Given the description of an element on the screen output the (x, y) to click on. 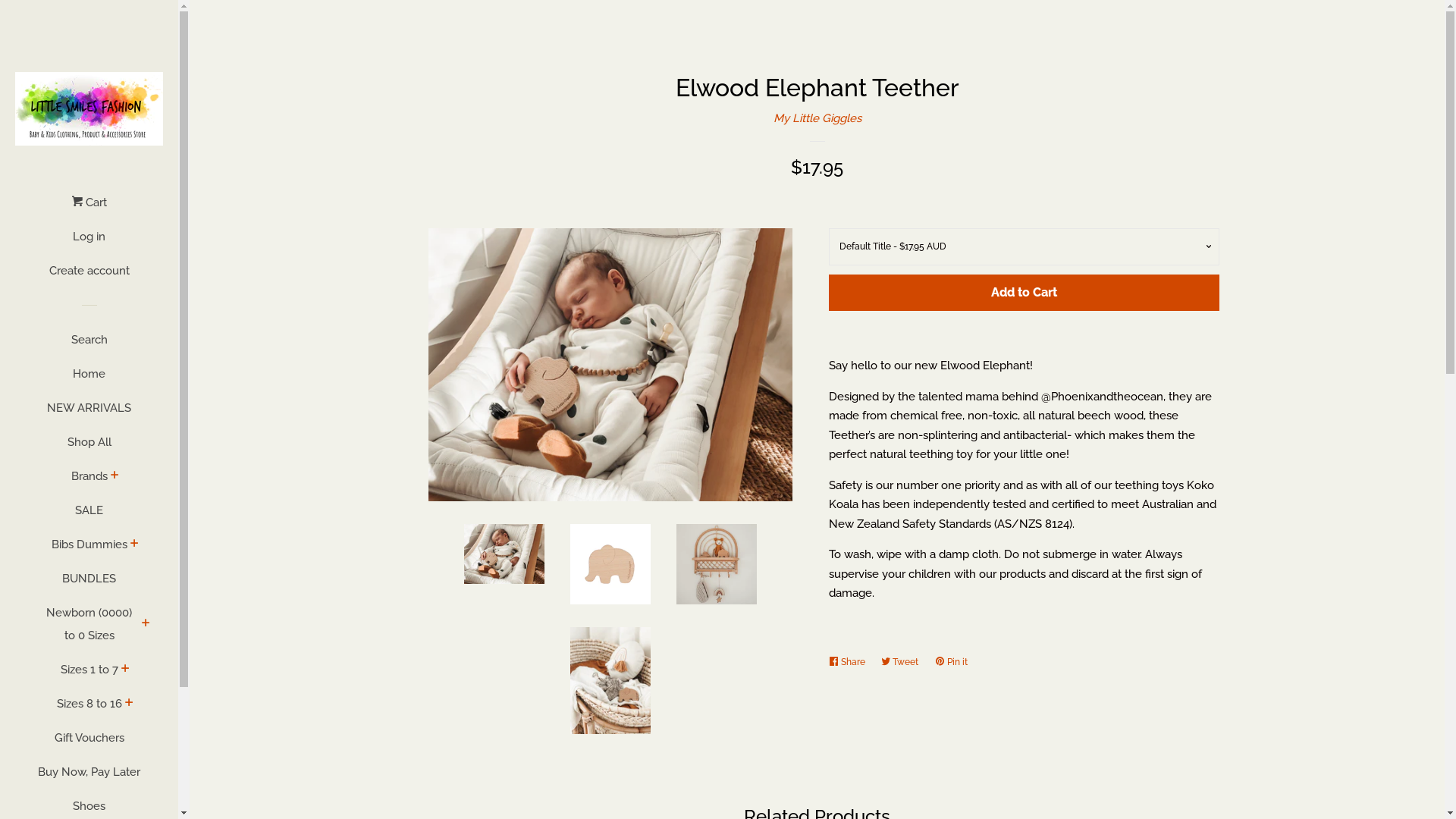
Shop All Element type: text (89, 447)
Gift Vouchers Element type: text (89, 743)
Sizes 8 to 16 Element type: text (88, 709)
Tweet
Tweet on Twitter Element type: text (903, 661)
Log in Element type: text (89, 242)
BUNDLES Element type: text (89, 584)
Newborn (0000) to 0 Sizes Element type: text (88, 629)
SALE Element type: text (89, 515)
expand Element type: text (114, 476)
Brands Element type: text (89, 481)
Search Element type: text (89, 345)
Buy Now, Pay Later Element type: text (89, 777)
Pin it
Pin on Pinterest Element type: text (954, 661)
Sizes 1 to 7 Element type: text (89, 675)
Home Element type: text (89, 379)
Cart Element type: text (88, 208)
NEW ARRIVALS Element type: text (89, 413)
expand Element type: text (134, 544)
Bibs Dummies Element type: text (89, 550)
My Little Giggles Element type: text (817, 118)
expand Element type: text (145, 623)
expand Element type: text (125, 669)
Create account Element type: text (89, 276)
Add to Cart Element type: text (1023, 292)
Share
Share on Facebook Element type: text (850, 661)
expand Element type: text (128, 703)
